Given the description of an element on the screen output the (x, y) to click on. 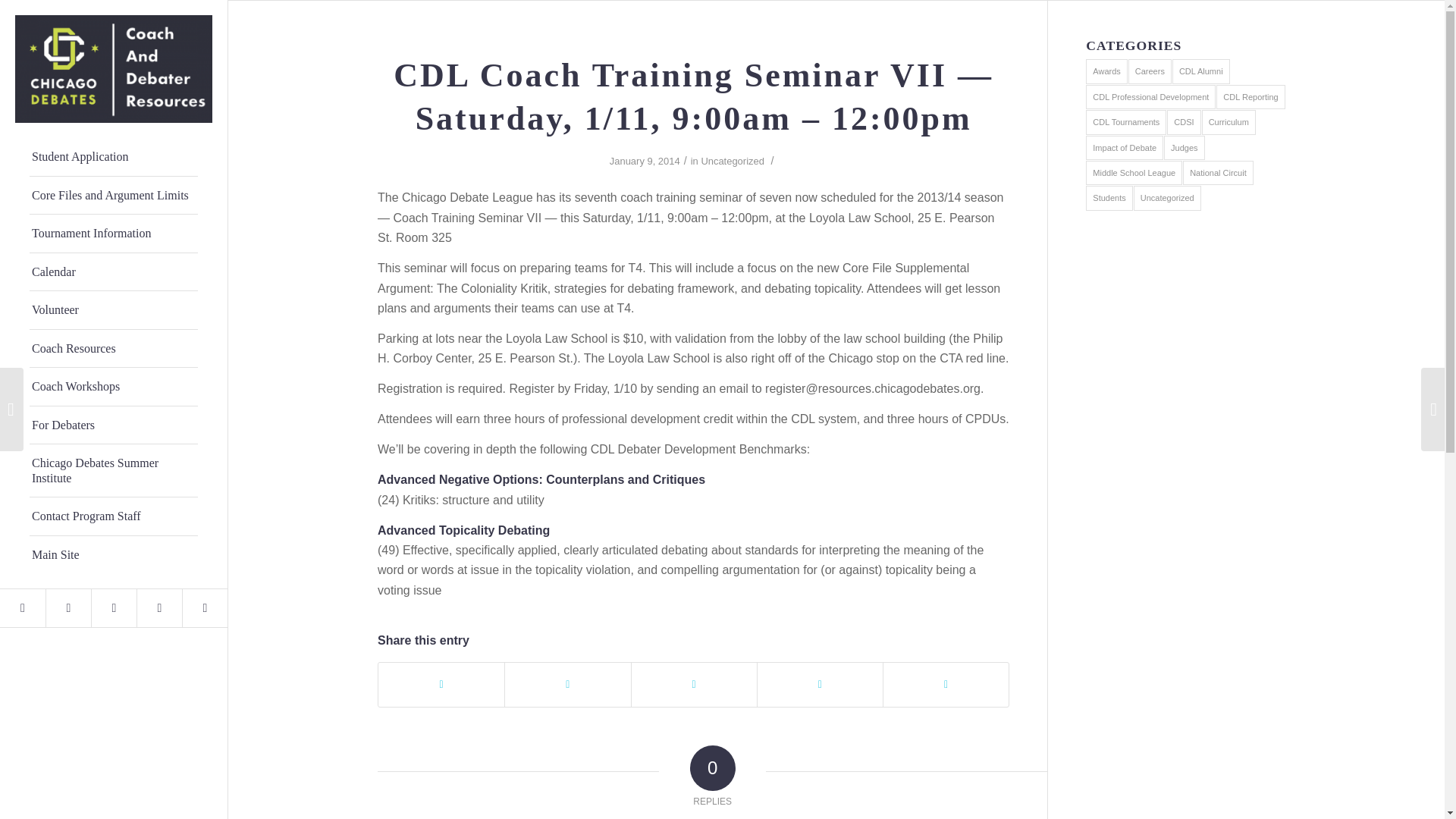
Main Site (113, 555)
Linkedin (204, 607)
CDL Tournaments (1126, 121)
CDL Professional Development (1150, 96)
Careers (1150, 70)
Chicago Debates Summer Institute (113, 470)
For Debaters (113, 425)
Awards (1106, 70)
Instagram (67, 607)
Twitter (22, 607)
Calendar (113, 272)
CDL Reporting (1249, 96)
CDL Alumni (1201, 70)
Student Application (113, 157)
Youtube (113, 607)
